Given the description of an element on the screen output the (x, y) to click on. 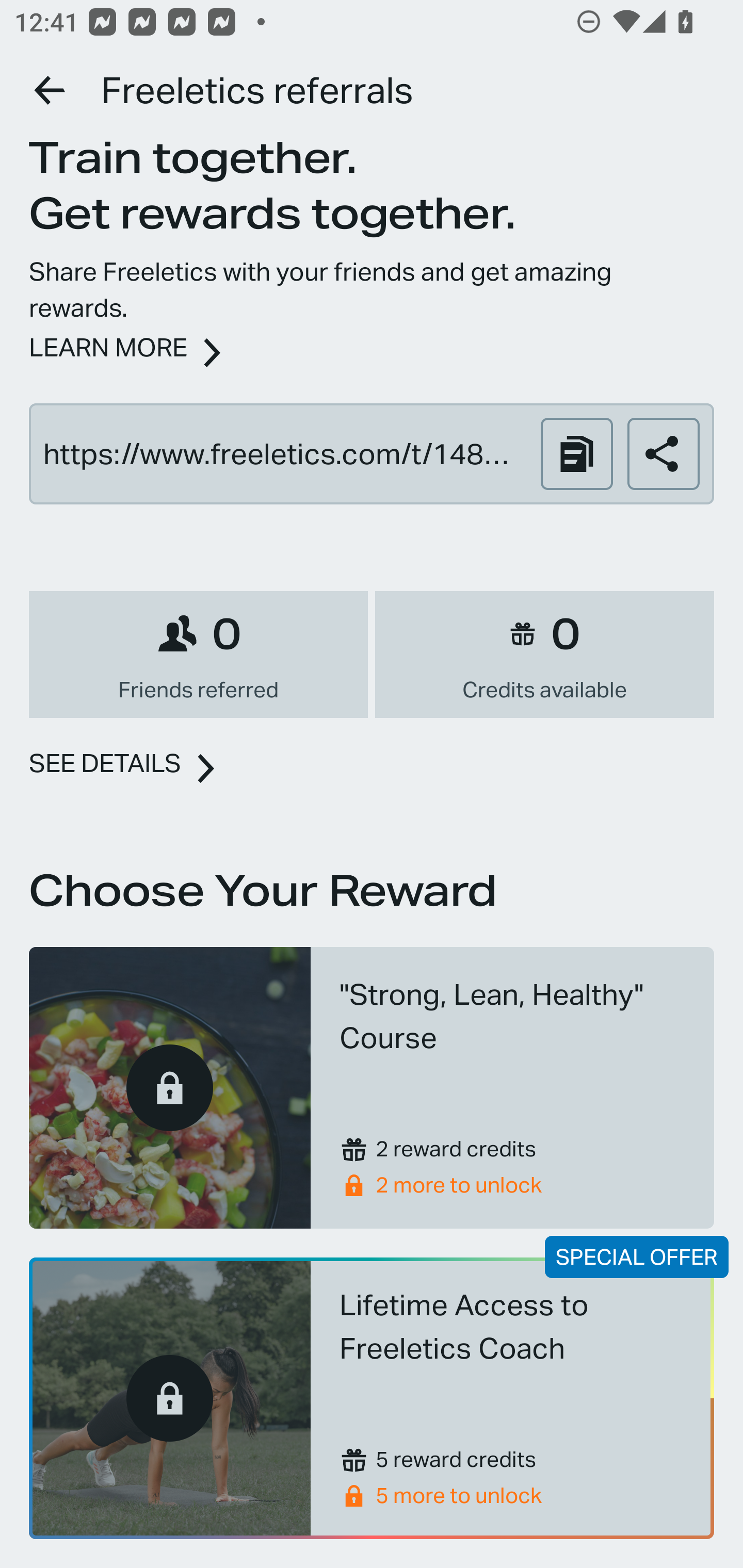
Go back (50, 90)
LEARN MORE (107, 347)
SEE DETAILS (104, 762)
